Given the description of an element on the screen output the (x, y) to click on. 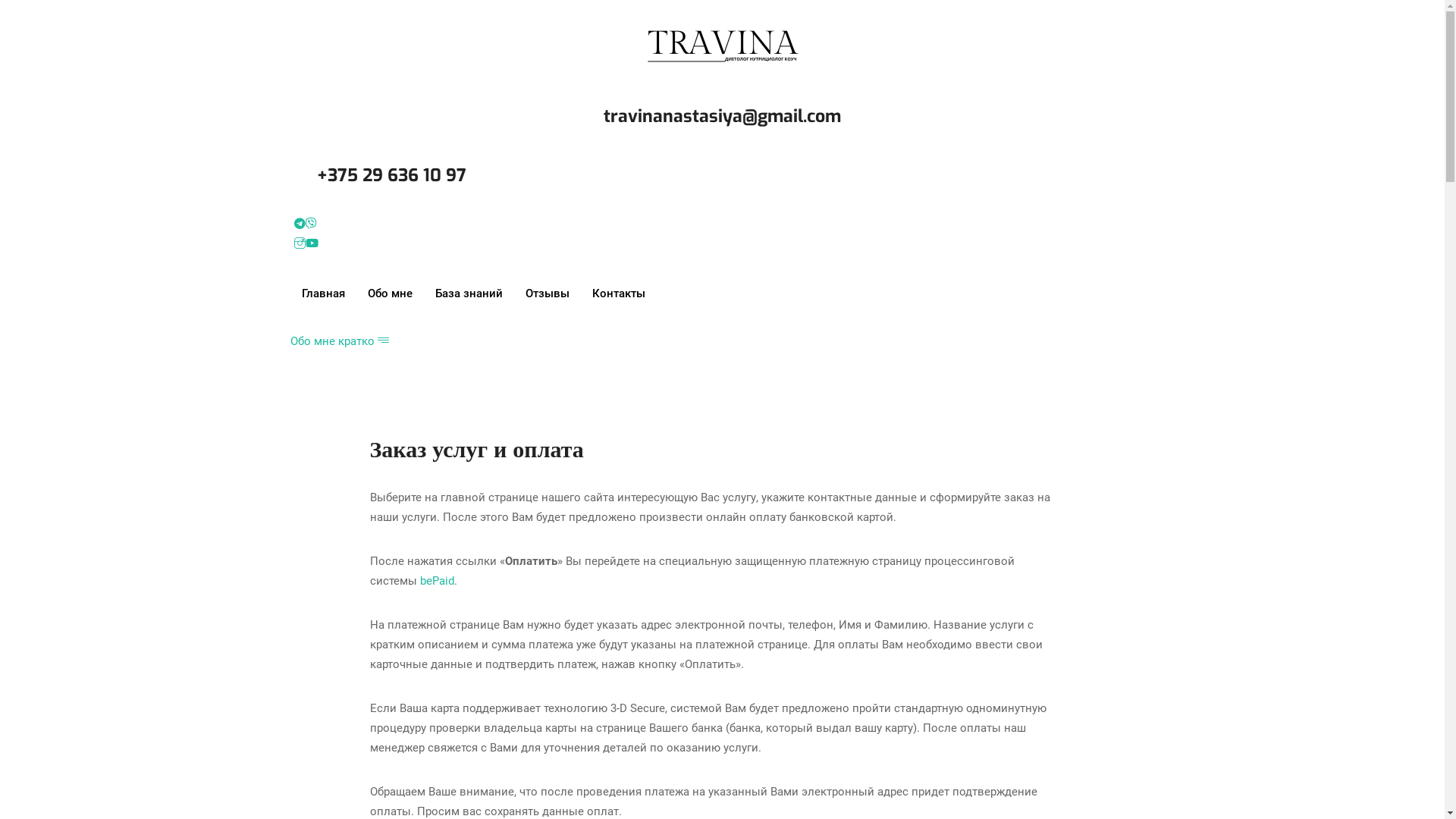
bePaid Element type: text (437, 580)
